Given the description of an element on the screen output the (x, y) to click on. 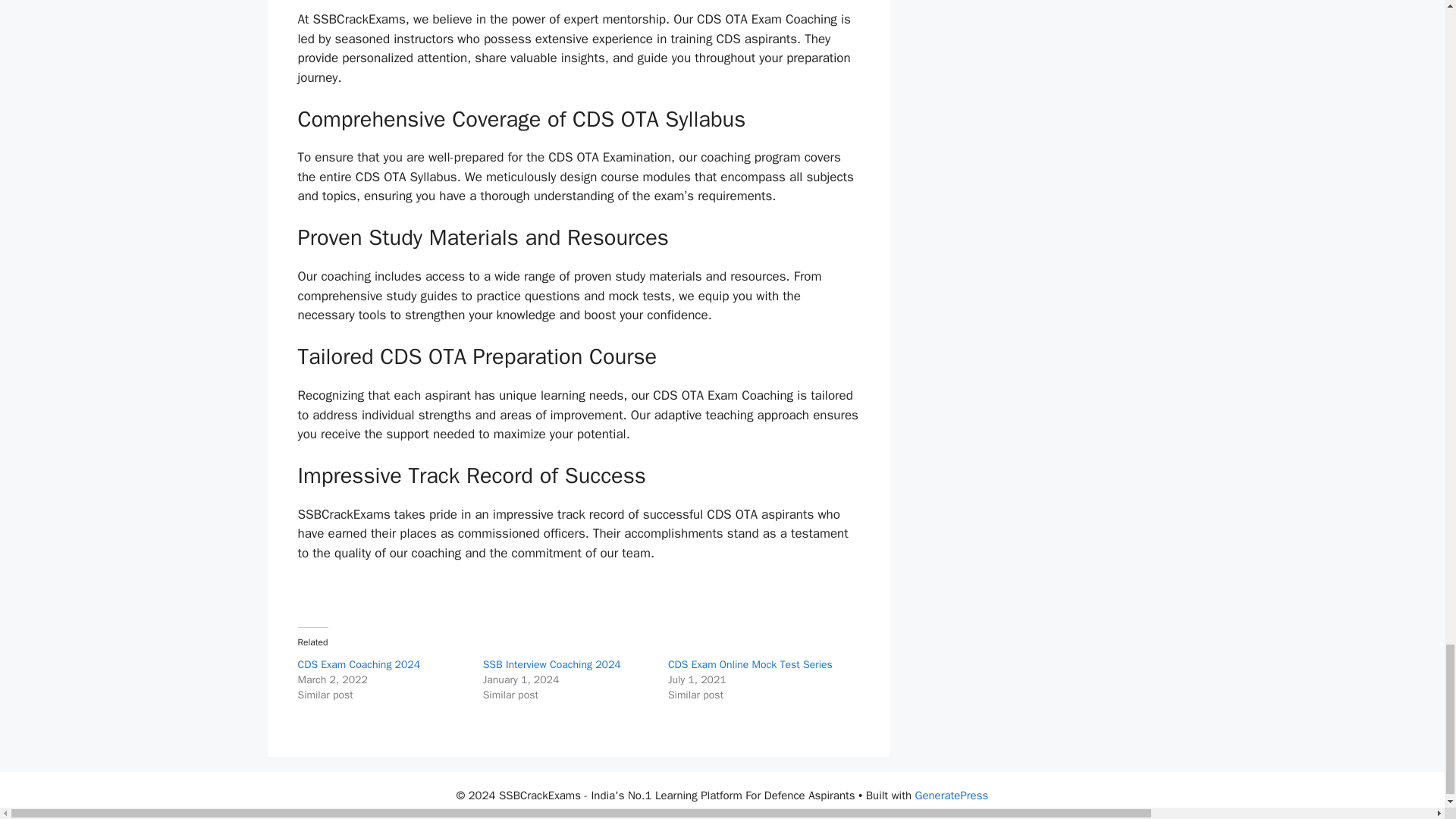
SSB Interview Coaching 2024 (552, 664)
CDS Exam Coaching 2024 (358, 664)
GeneratePress (951, 795)
SSB Interview Coaching 2024 (552, 664)
CDS Exam Online Mock Test Series (750, 664)
CDS Exam Coaching 2024 (358, 664)
CDS Exam Online Mock Test Series (750, 664)
